Given the description of an element on the screen output the (x, y) to click on. 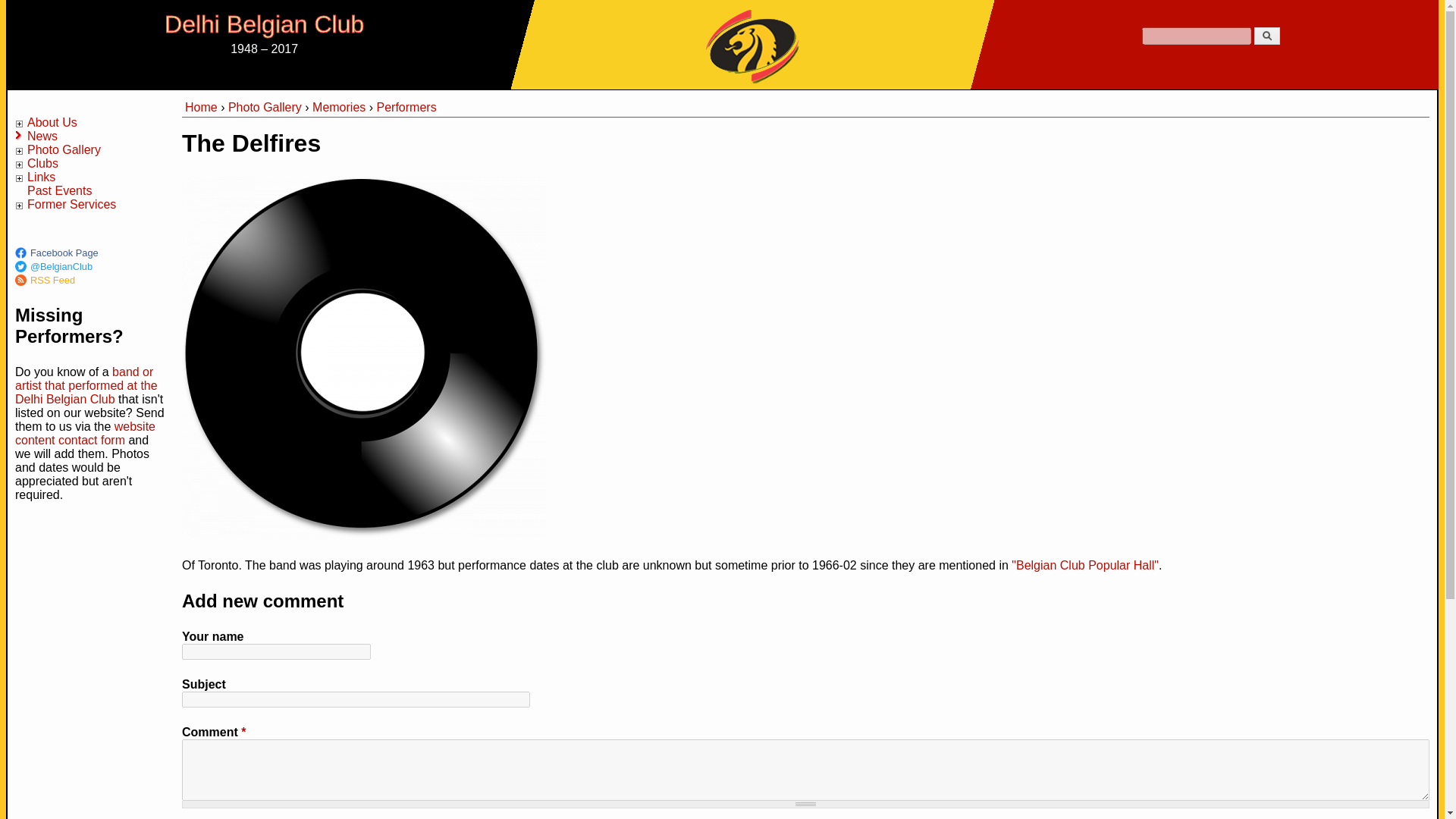
Delhi Belgian Club (264, 23)
About the Delhi Belgian Club (52, 122)
Delhi Belgian Club Logo (751, 44)
Photo Gallery (63, 149)
Former Services (71, 204)
Enter the terms you wish to search for. (1195, 36)
Past Events (59, 190)
Clubs (42, 163)
Links (41, 176)
News (42, 135)
Search (1266, 36)
About Us (52, 122)
Search (1266, 36)
